Given the description of an element on the screen output the (x, y) to click on. 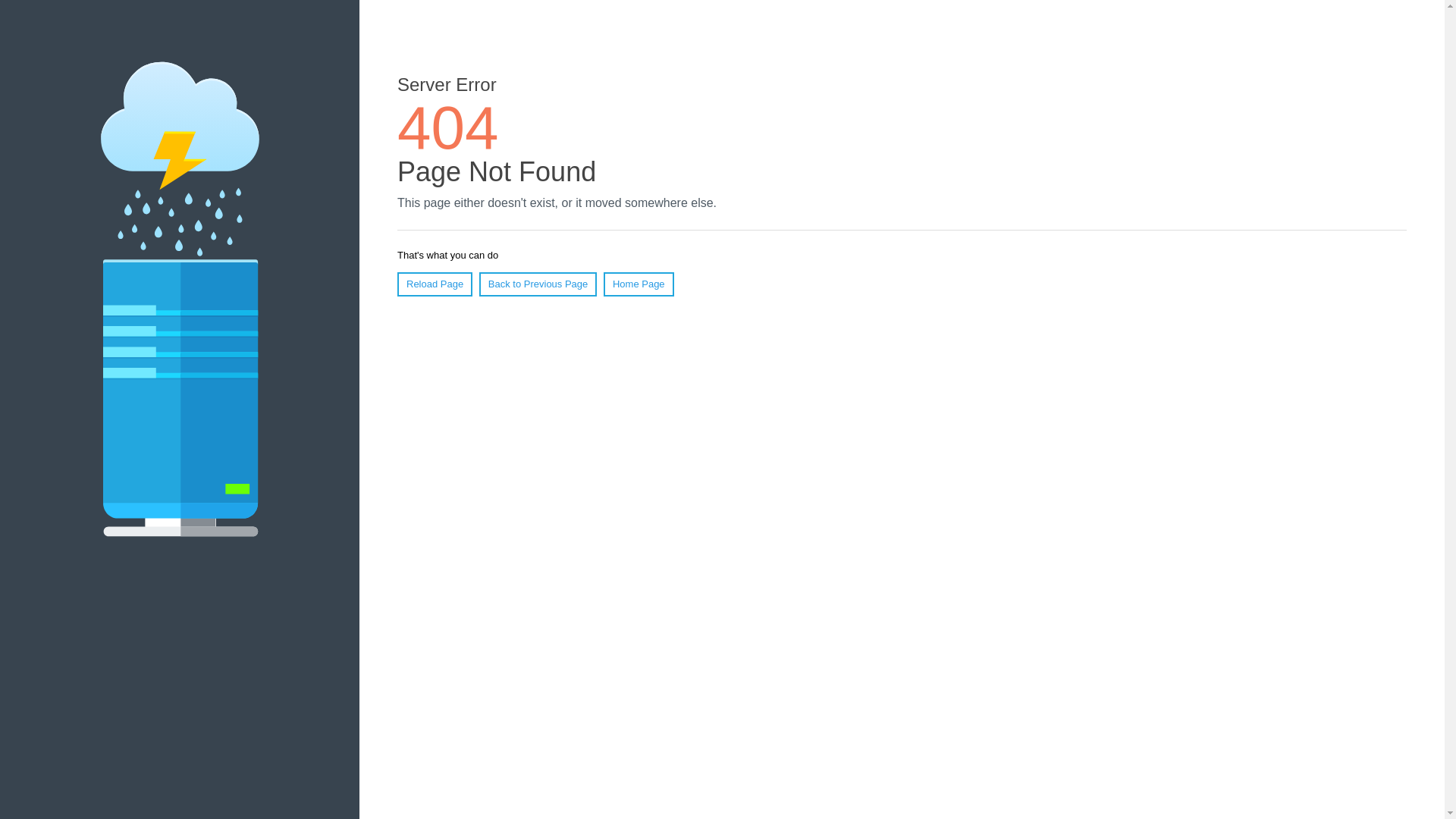
Home Page Element type: text (638, 284)
Reload Page Element type: text (434, 284)
Back to Previous Page Element type: text (538, 284)
